Given the description of an element on the screen output the (x, y) to click on. 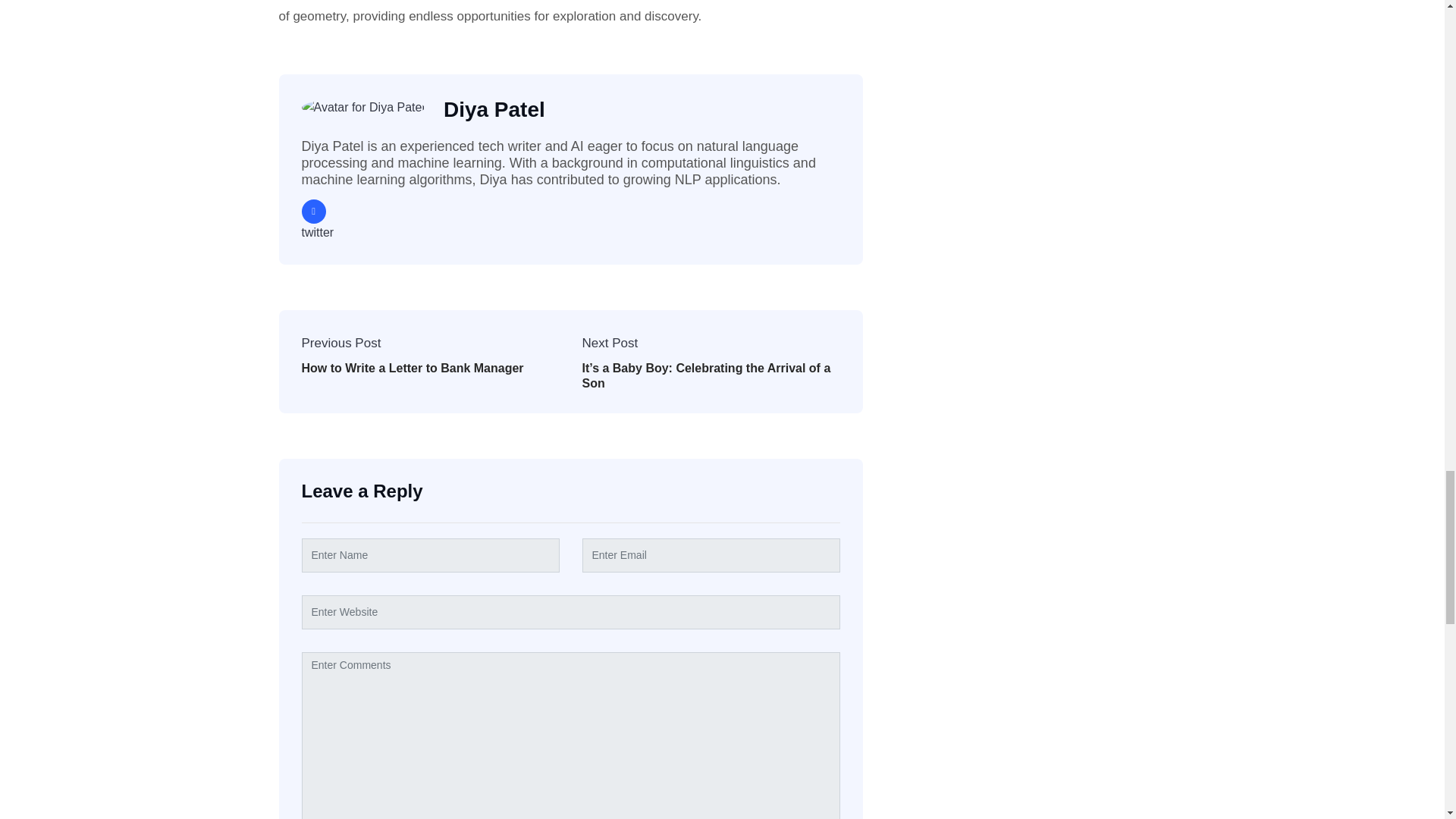
How to Write a Letter to Bank Manager (412, 368)
twitter (313, 211)
Twitter (313, 211)
